Given the description of an element on the screen output the (x, y) to click on. 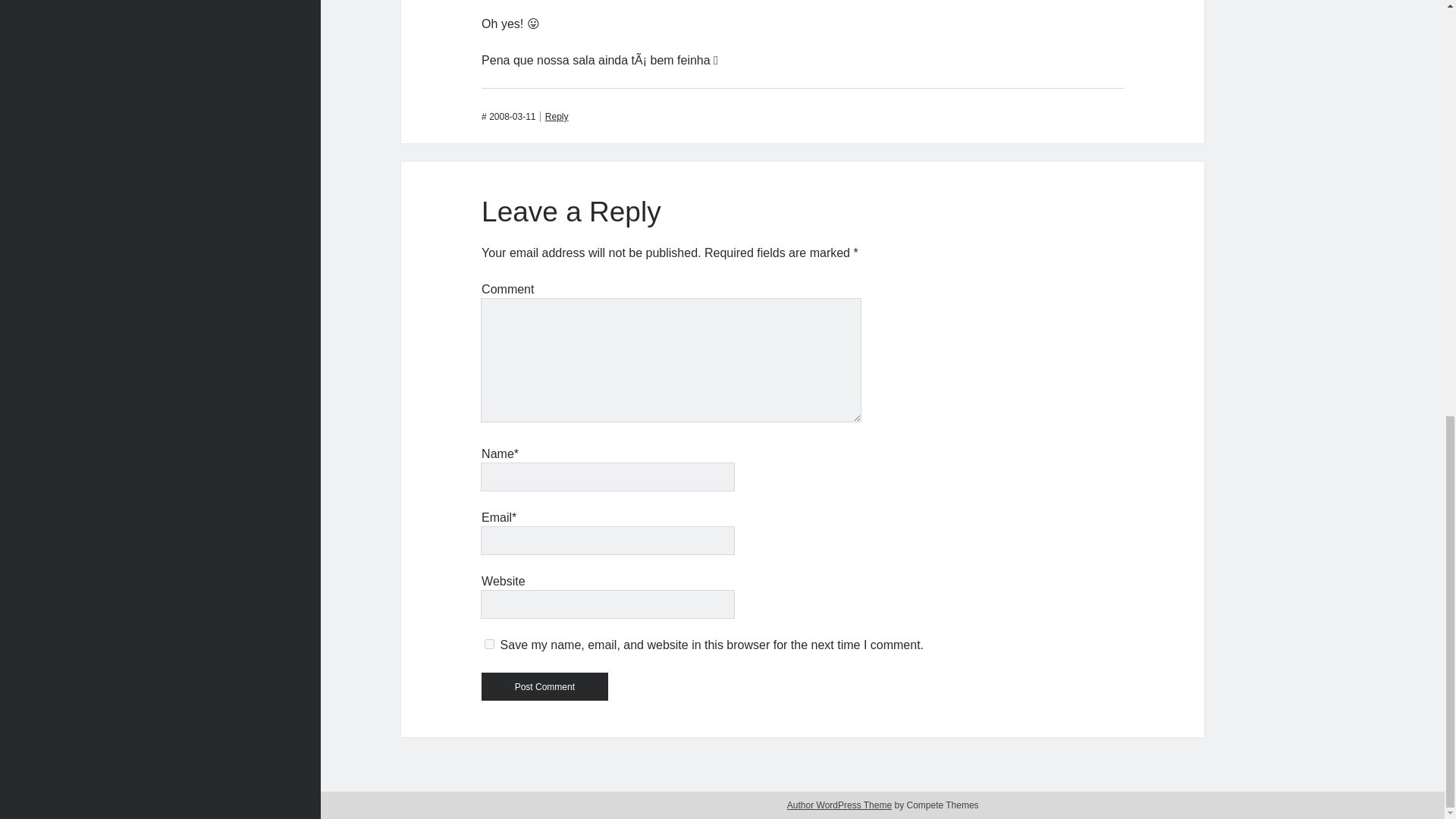
Reply (554, 116)
yes (489, 644)
Author WordPress Theme (839, 805)
Post Comment (544, 686)
Post Comment (544, 686)
